Given the description of an element on the screen output the (x, y) to click on. 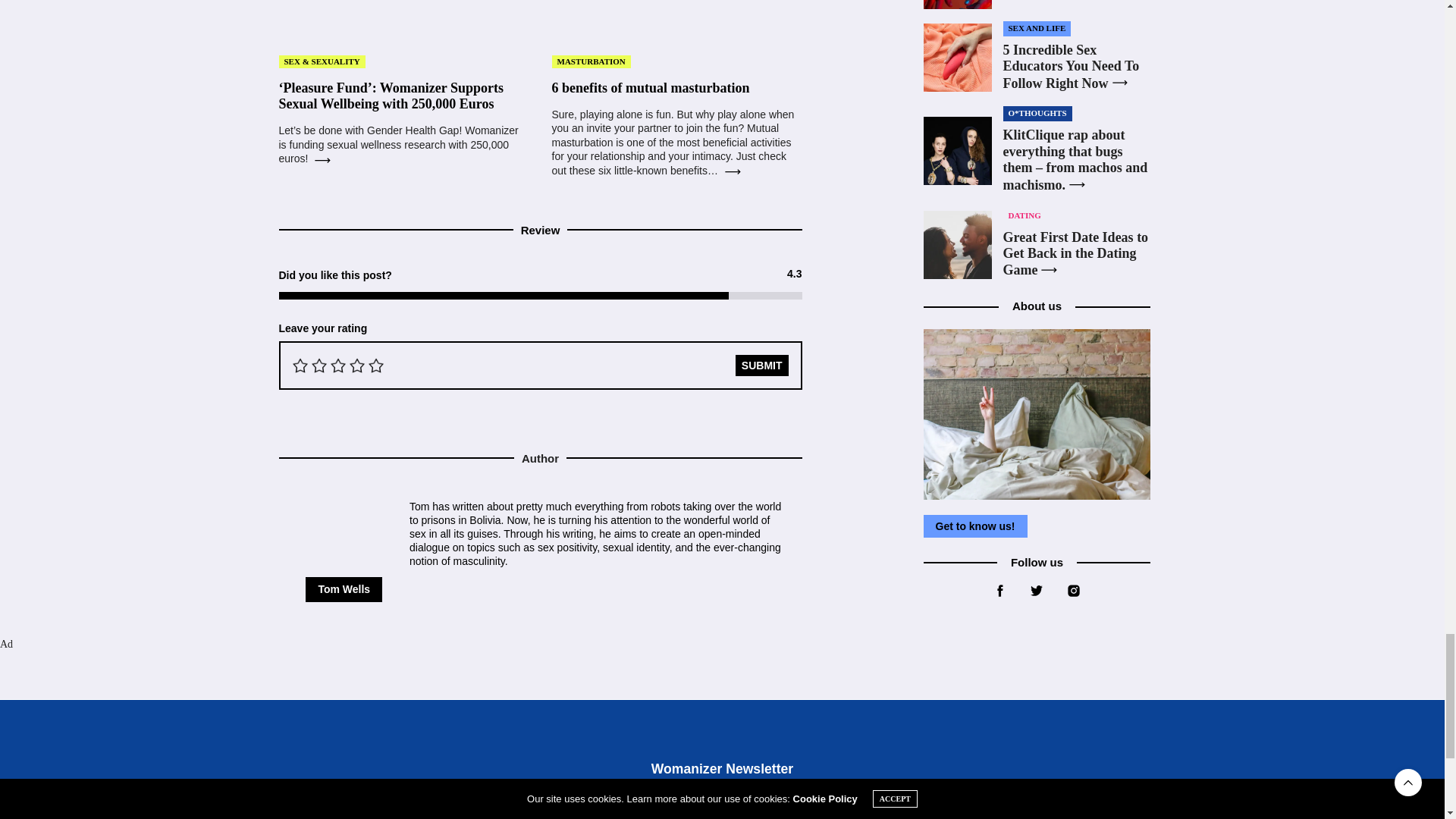
Submit (762, 364)
